Given the description of an element on the screen output the (x, y) to click on. 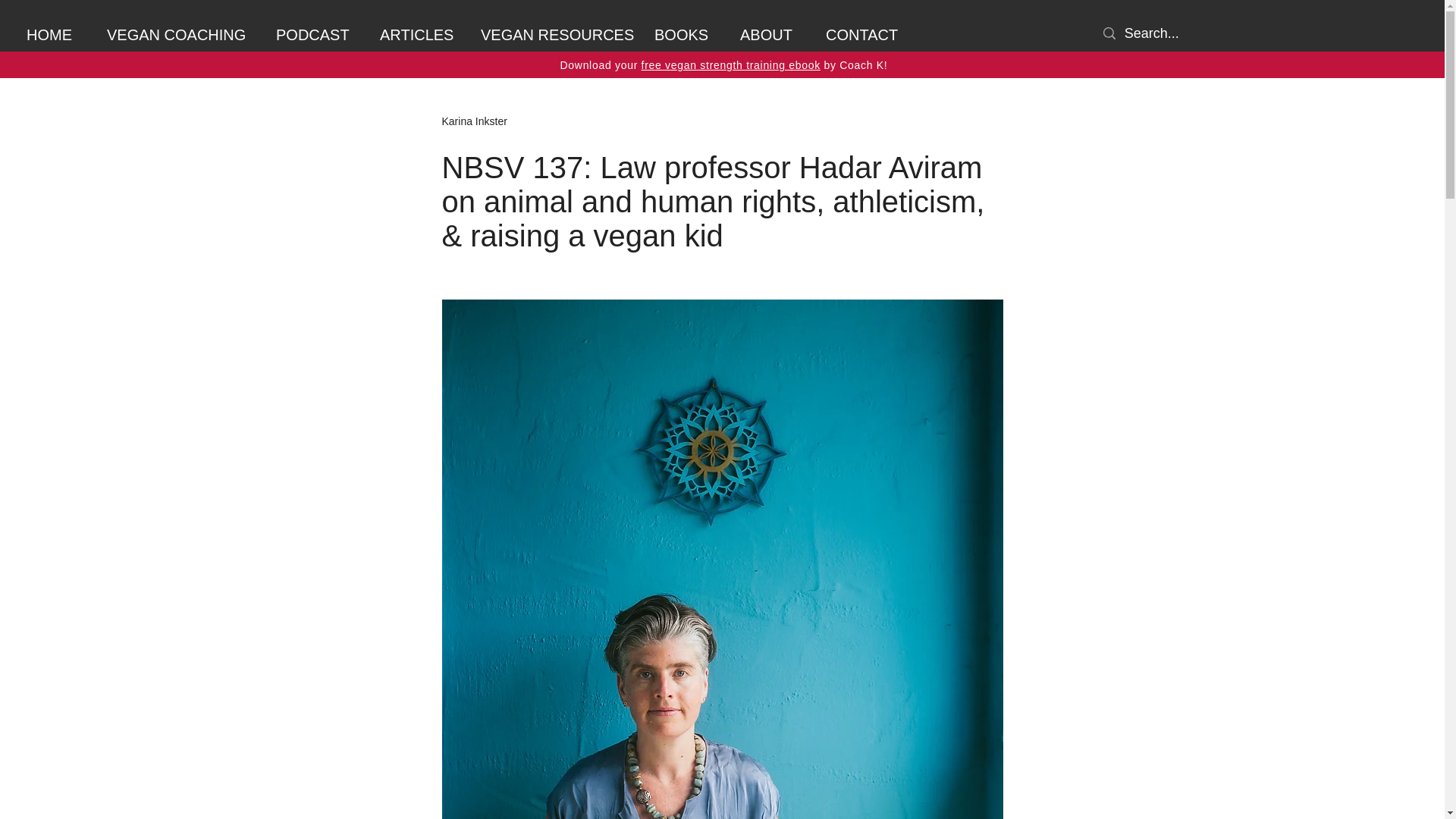
ARTICLES (418, 34)
Karina Inkster (473, 121)
VEGAN RESOURCES (555, 34)
PODCAST (316, 34)
HOME (55, 34)
Karina Inkster (473, 121)
CONTACT (865, 34)
BOOKS (686, 34)
